Given the description of an element on the screen output the (x, y) to click on. 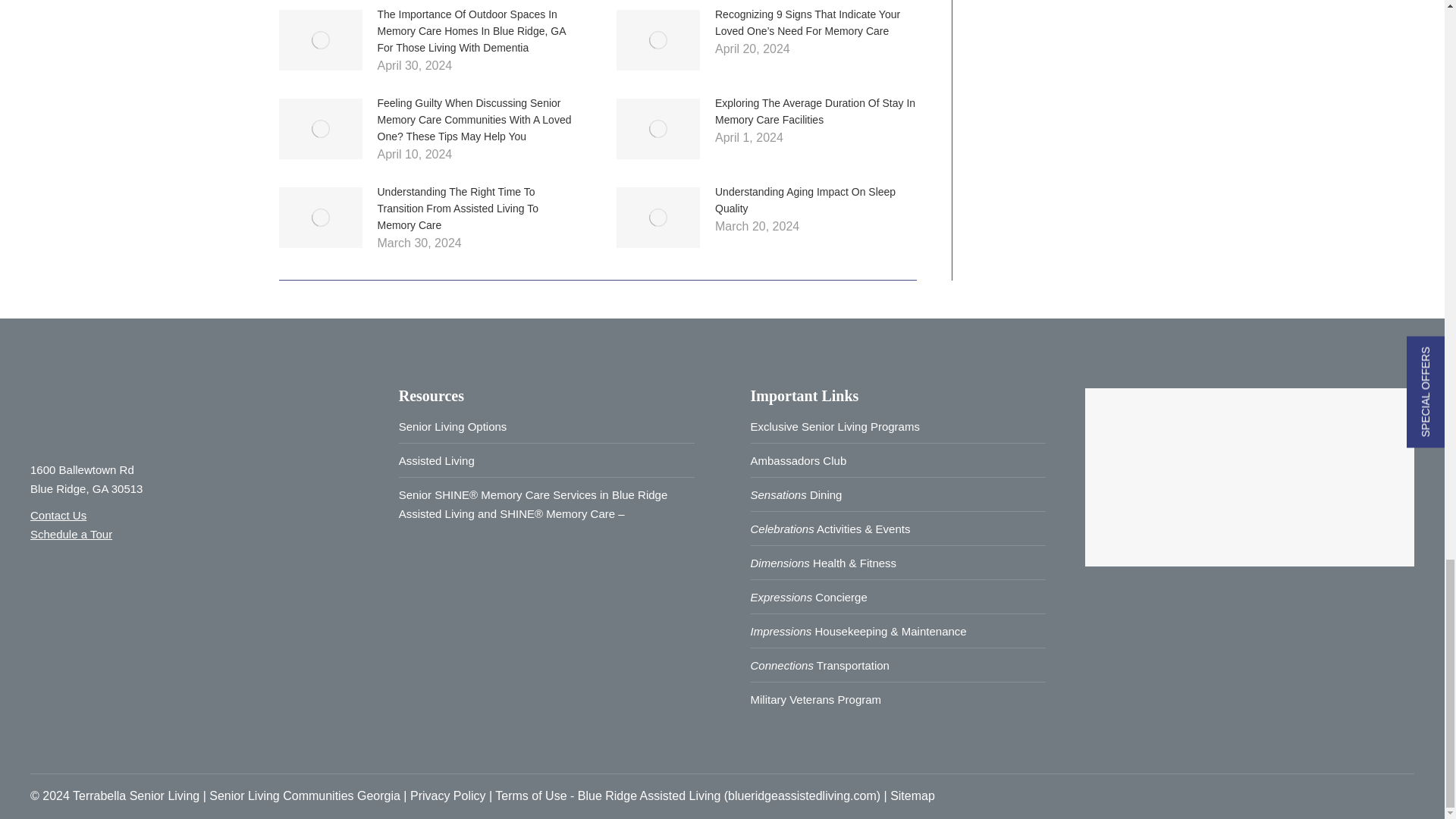
Equal-Housing-Opportunity-logo22-150x144-1 (150, 601)
terabelafooter-logo (124, 411)
Equal-Housing-Opportunity-logo222 (63, 600)
